Given the description of an element on the screen output the (x, y) to click on. 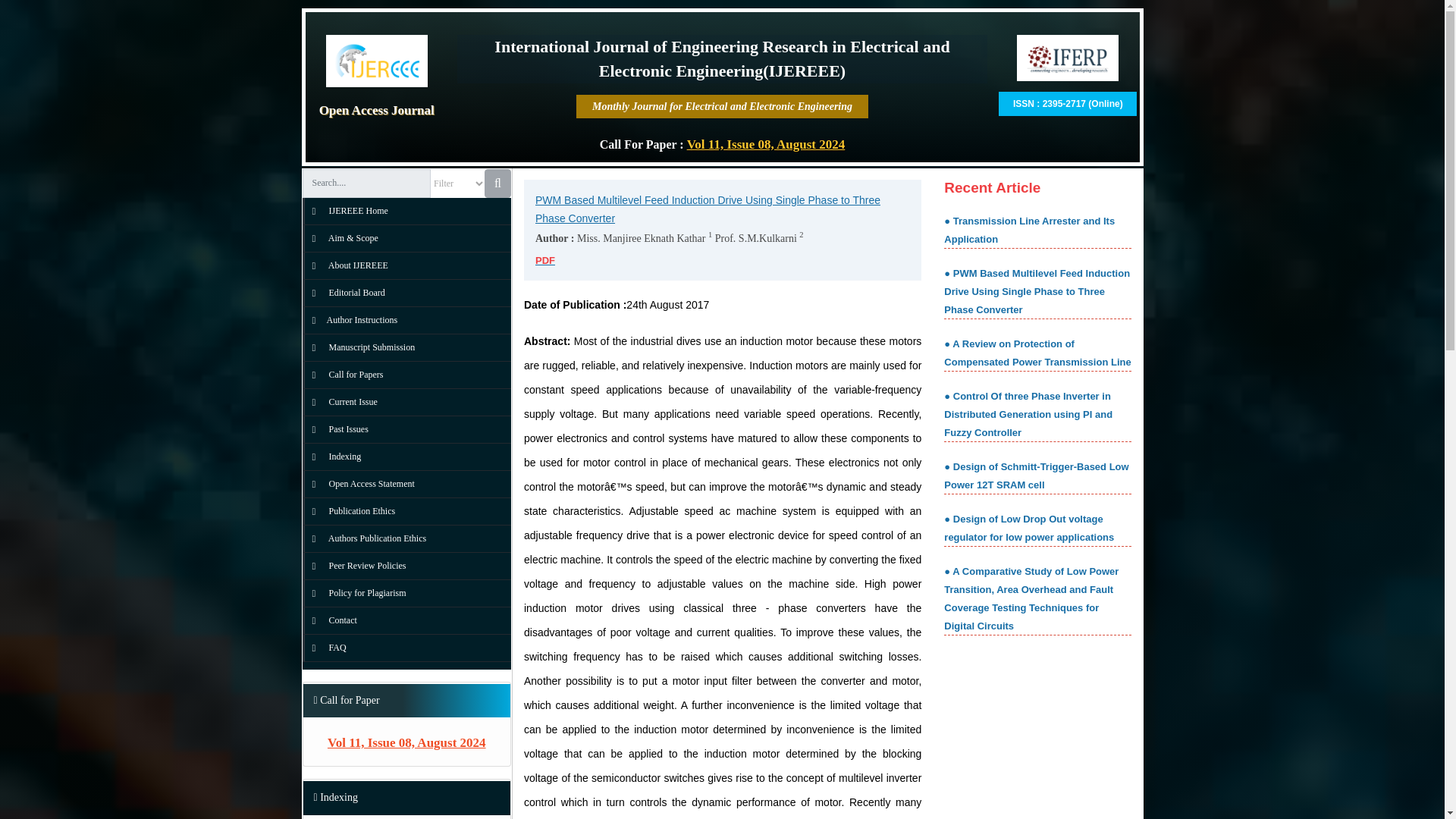
Manuscript Submission (359, 347)
Authors Publication Ethics (365, 538)
Publication Ethics (350, 511)
FAQ (325, 647)
Editorial Board (344, 292)
Peer Review Policies (355, 565)
Open Access Statement (359, 483)
Policy for Plagiarism (355, 593)
Vol 11, Issue 08, August 2024 (766, 144)
Current Issue (340, 401)
